Given the description of an element on the screen output the (x, y) to click on. 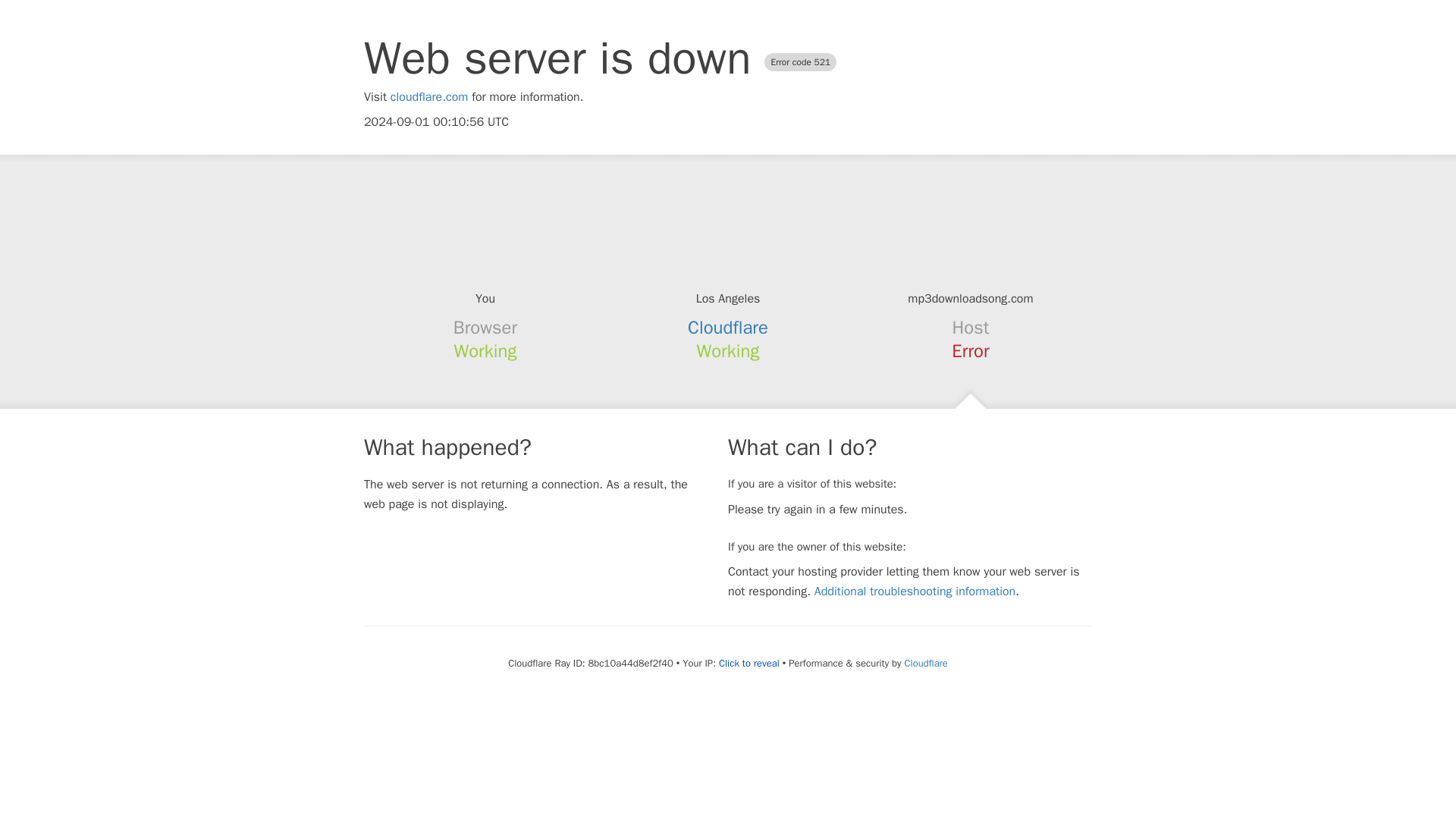
Cloudflare (925, 662)
Click to reveal (748, 663)
Cloudflare (727, 327)
Additional troubleshooting information (913, 590)
cloudflare.com (429, 96)
